Given the description of an element on the screen output the (x, y) to click on. 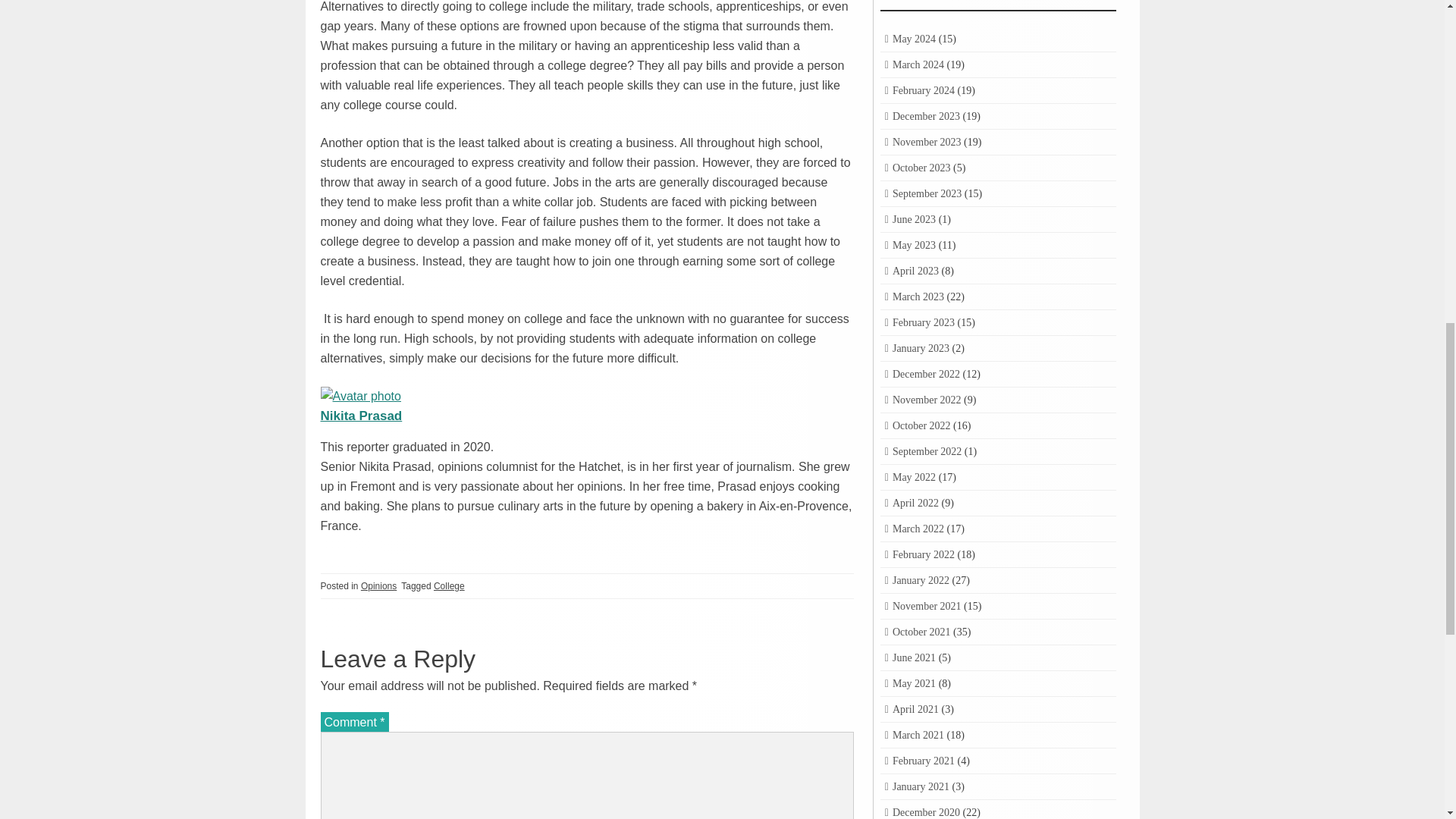
Opinions (378, 585)
Nikita Prasad (360, 415)
College (448, 585)
